Given the description of an element on the screen output the (x, y) to click on. 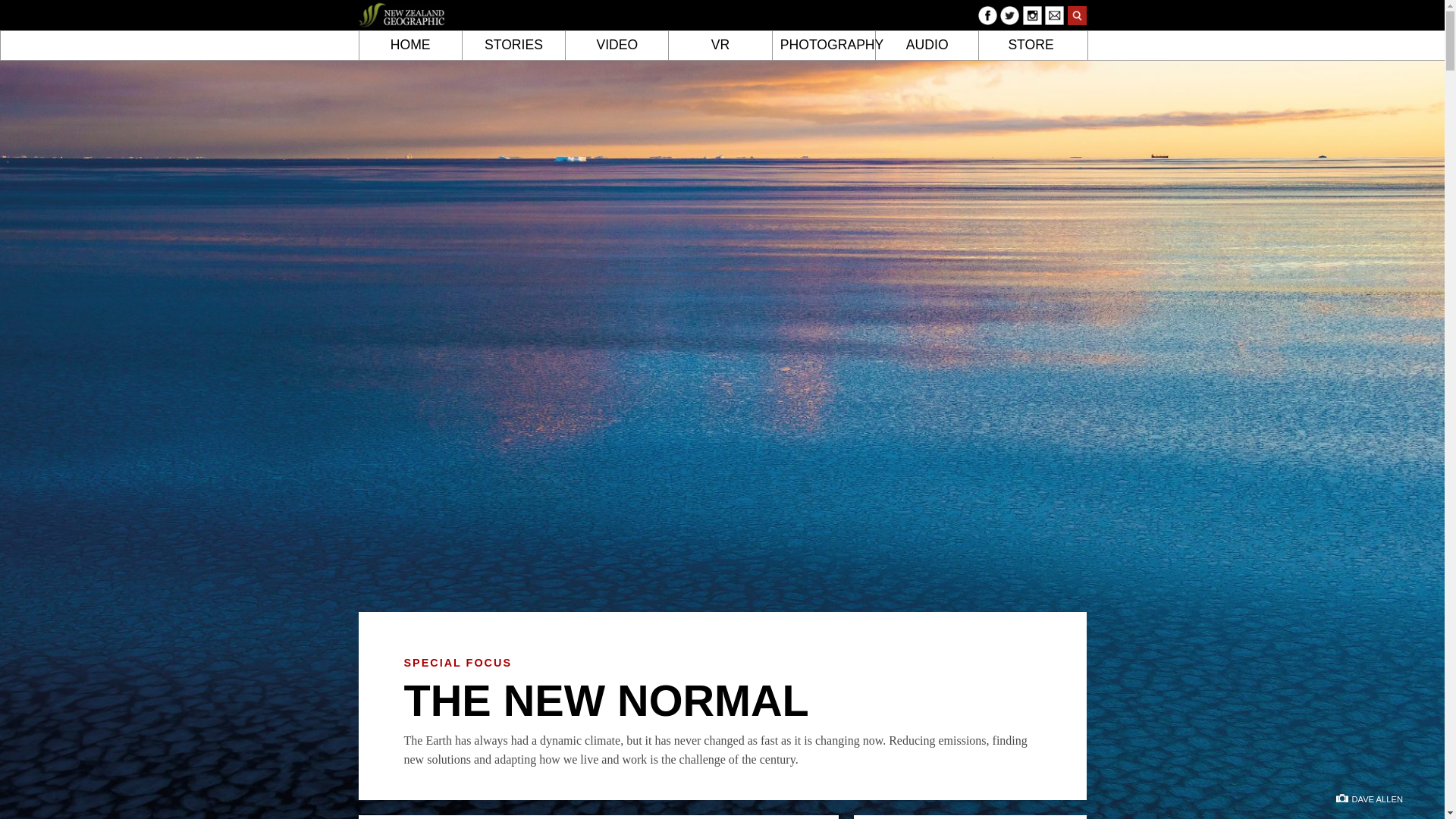
PHOTOGRAPHY (823, 45)
VIDEO (617, 45)
STORE (1030, 45)
AUDIO (927, 45)
HOME (410, 45)
VR (719, 45)
STORIES (513, 45)
